Given the description of an element on the screen output the (x, y) to click on. 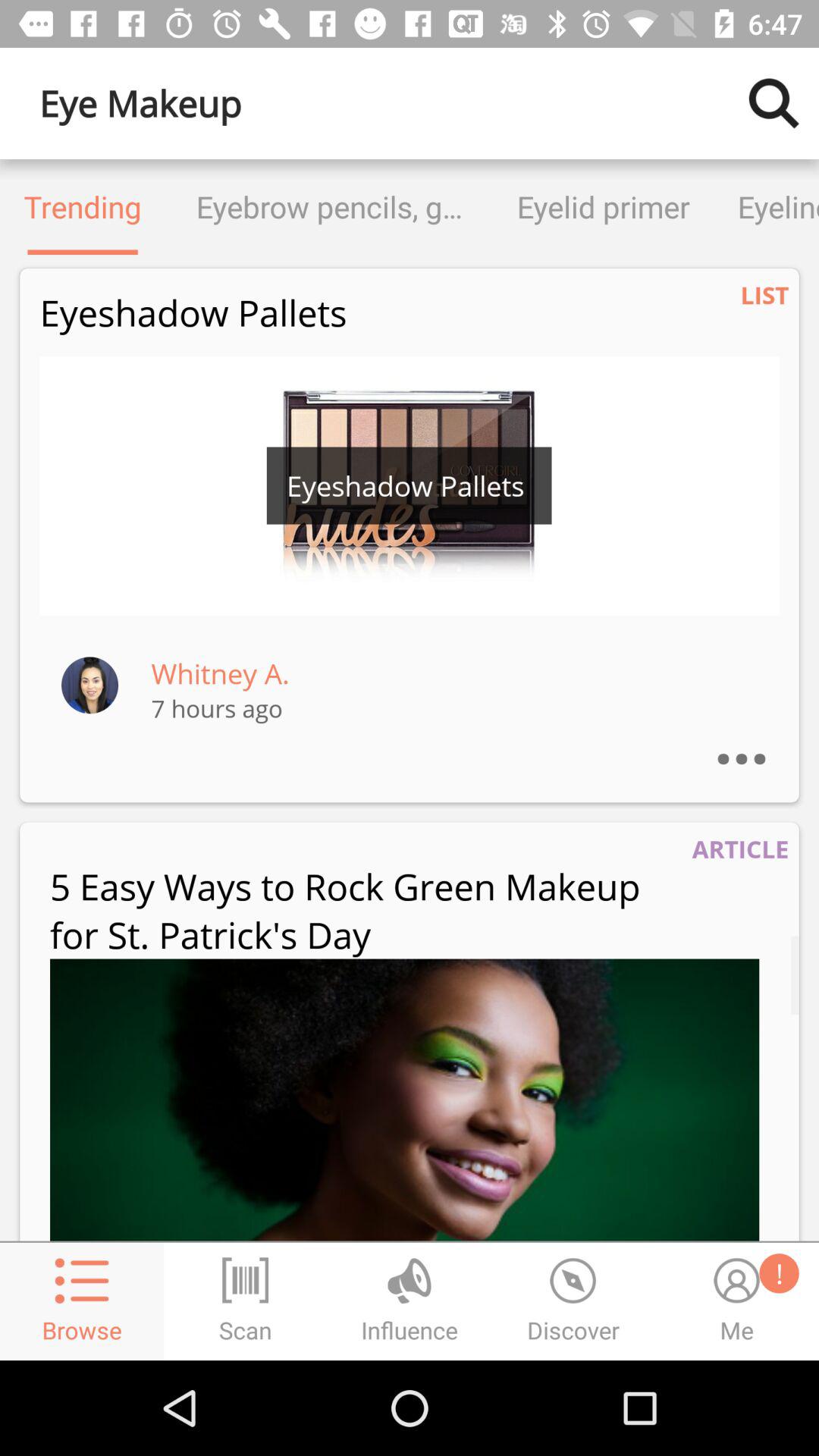
click the icon to the right of the eyebrow pencils gels item (603, 206)
